Given the description of an element on the screen output the (x, y) to click on. 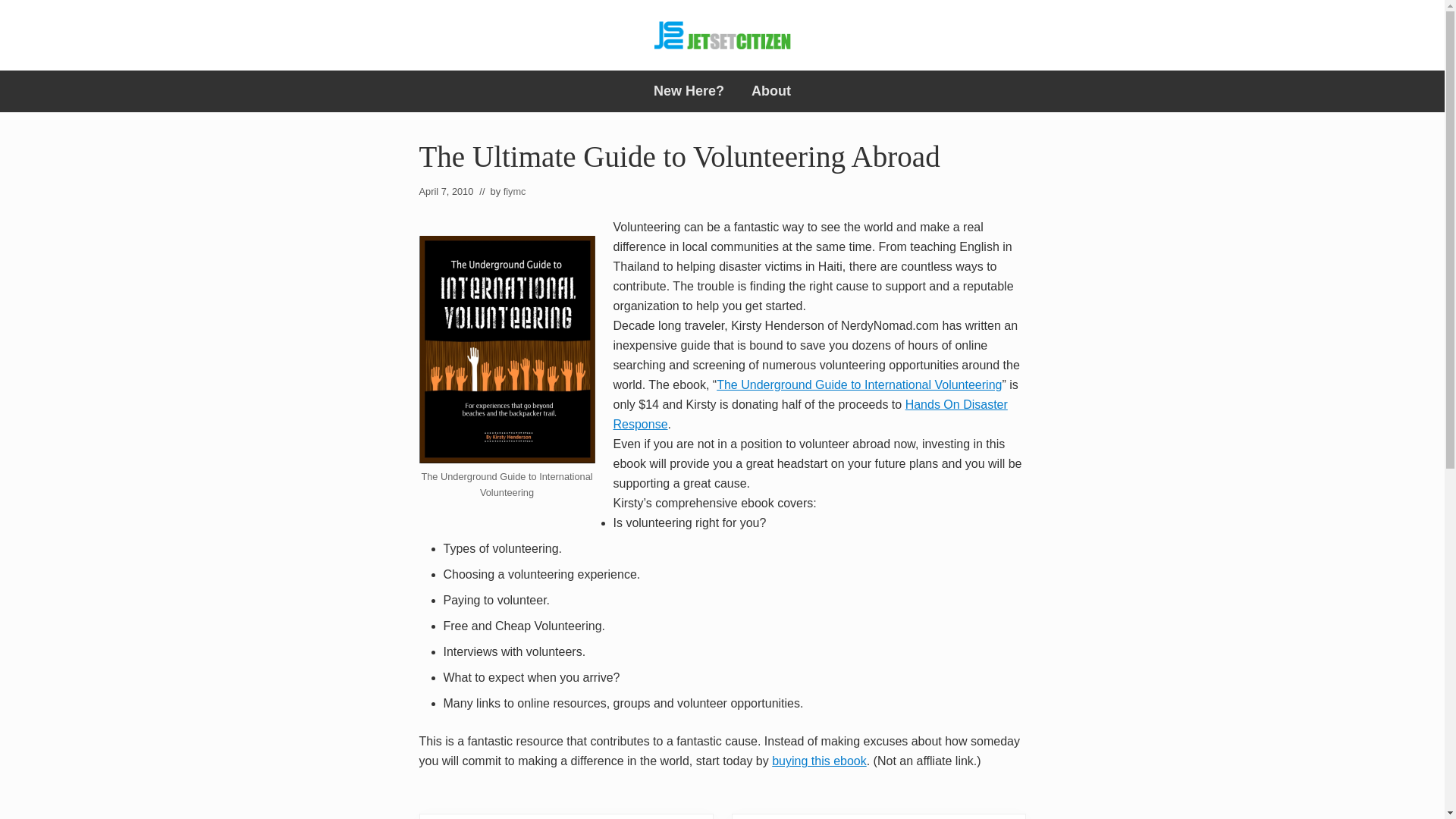
International Volunteering (858, 384)
New Here? (689, 91)
Hands on Disaster Response (809, 414)
About (771, 91)
Hands On Disaster Response (809, 414)
fiymc (514, 191)
The Underground Guide to International Volunteering (858, 384)
International Volunteering (818, 760)
buying this ebook (818, 760)
